Given the description of an element on the screen output the (x, y) to click on. 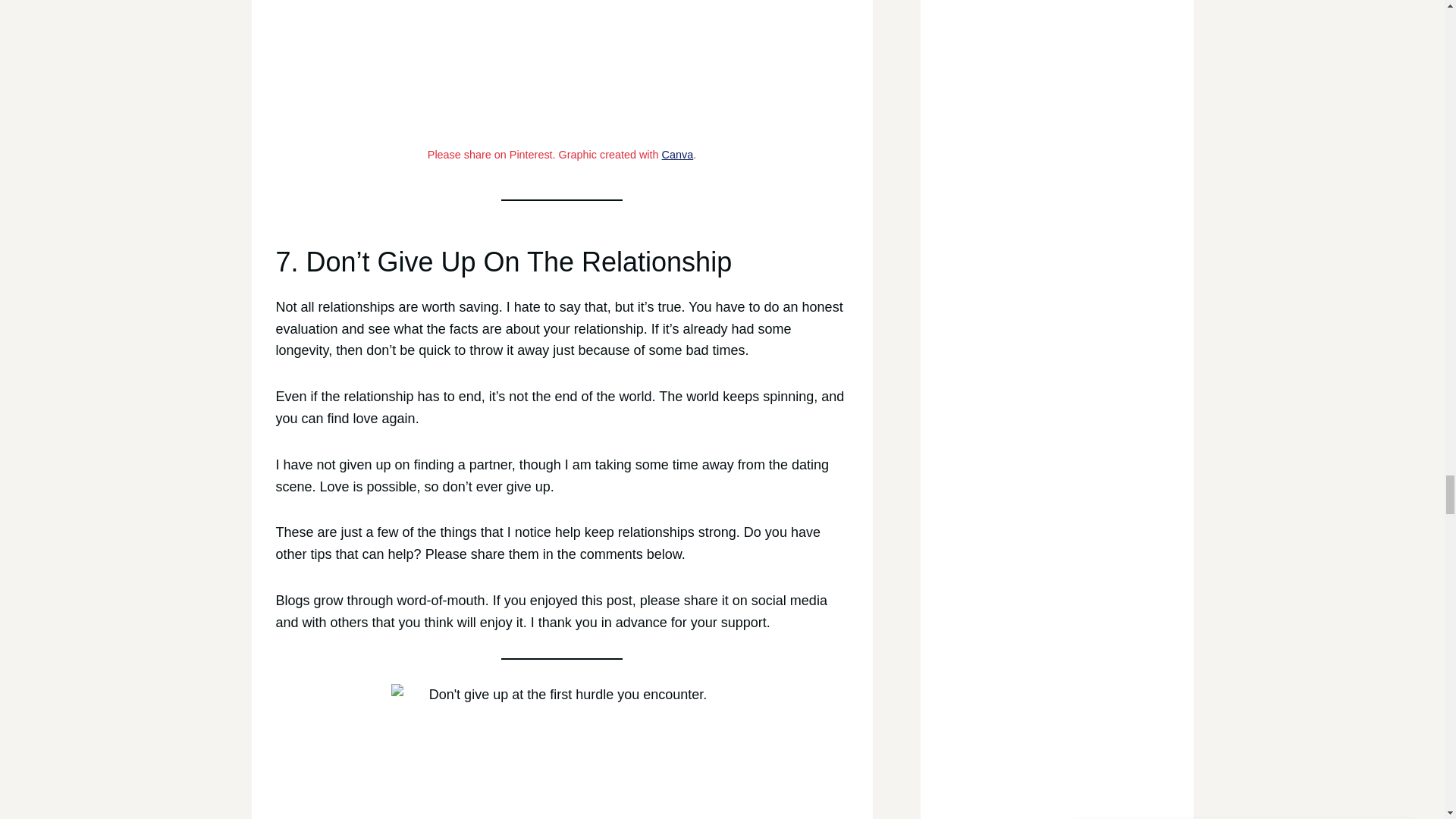
Canva (678, 154)
